Given the description of an element on the screen output the (x, y) to click on. 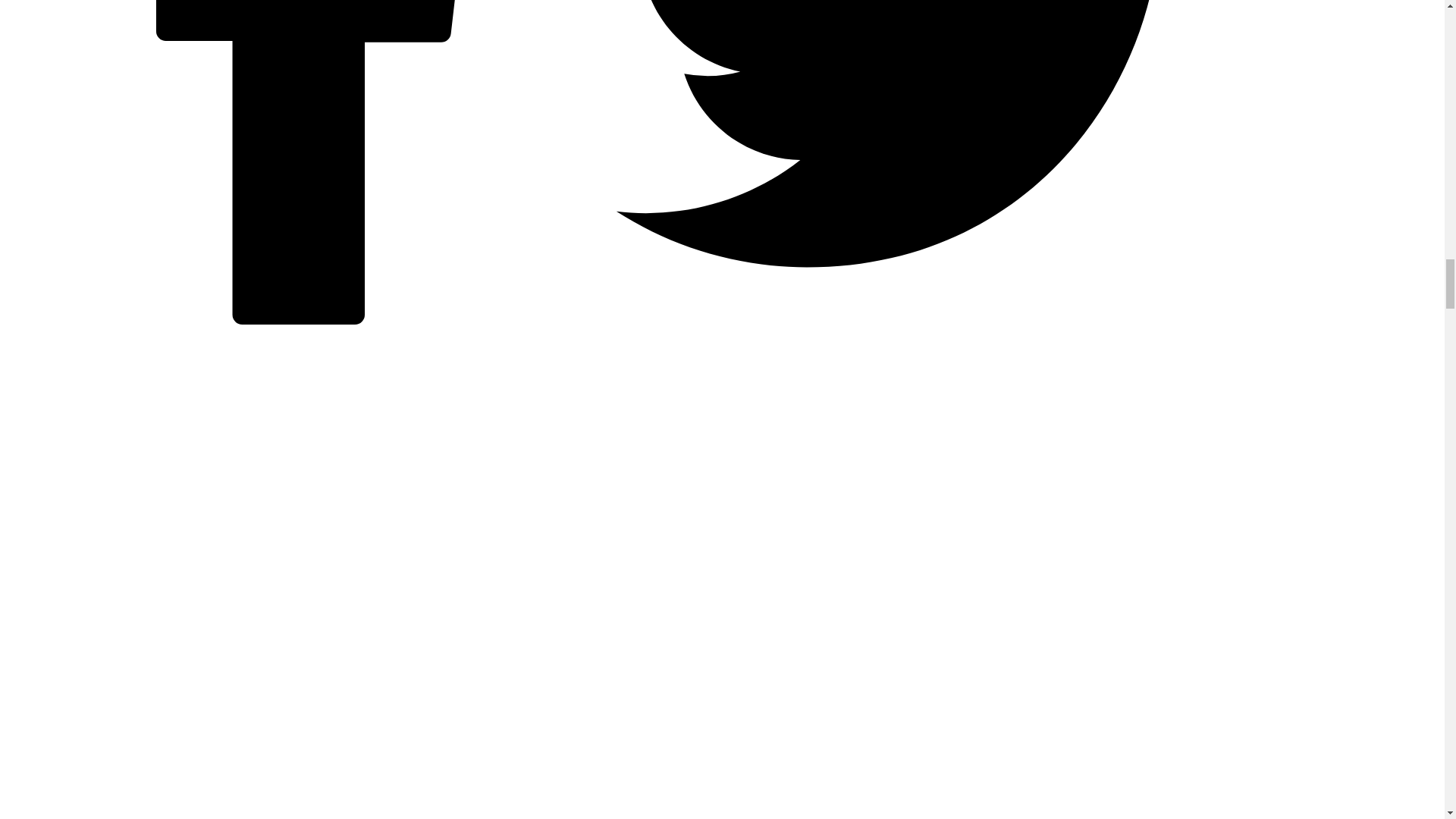
Share on Facebook (310, 319)
Tweet This Post (919, 319)
